Given the description of an element on the screen output the (x, y) to click on. 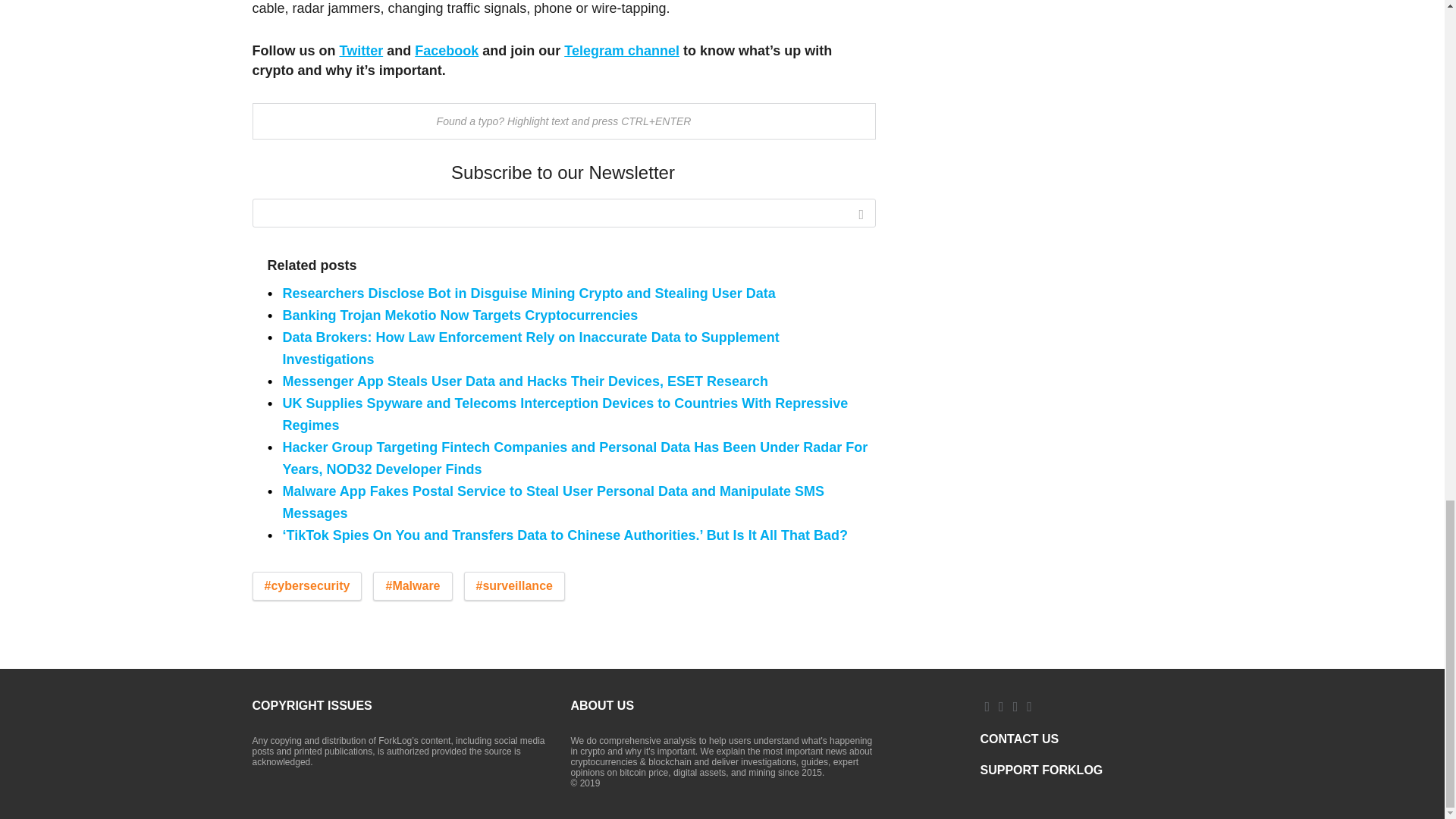
Telegram channel (621, 50)
Facebook (446, 50)
Banking Trojan Mekotio Now Targets Cryptocurrencies (459, 314)
Twitter (361, 50)
Banking Trojan Mekotio Now Targets Cryptocurrencies (459, 314)
